Given the description of an element on the screen output the (x, y) to click on. 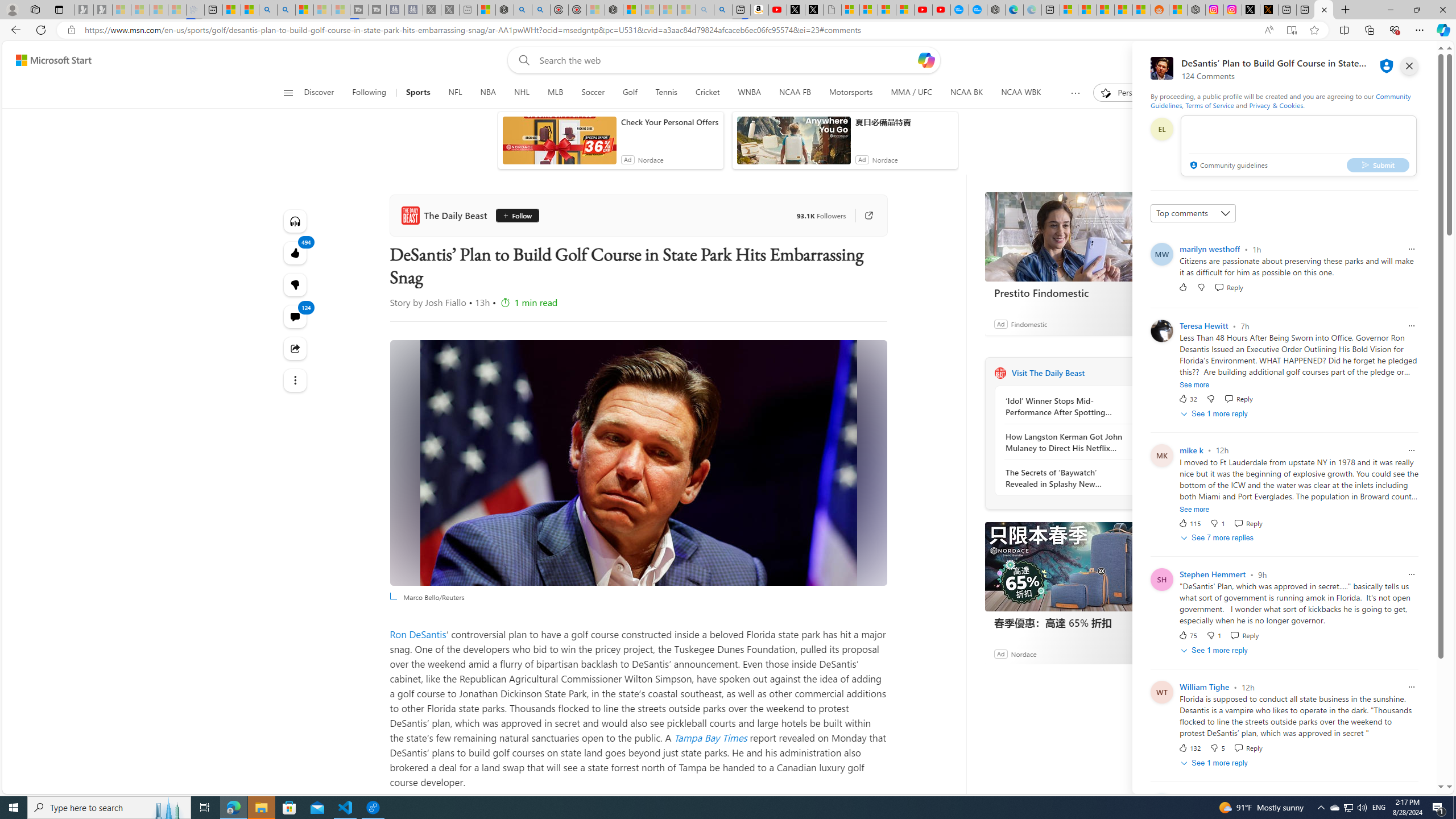
32 Like (1187, 398)
Nordace - Summer Adventures 2024 (1195, 9)
X (814, 9)
NBA (488, 92)
Open settings (1420, 60)
Cricket (707, 92)
NFL (455, 92)
poe ++ standard - Search (540, 9)
Like (1182, 287)
NCAA FB (794, 92)
NCAA WBK (1020, 92)
